Given the description of an element on the screen output the (x, y) to click on. 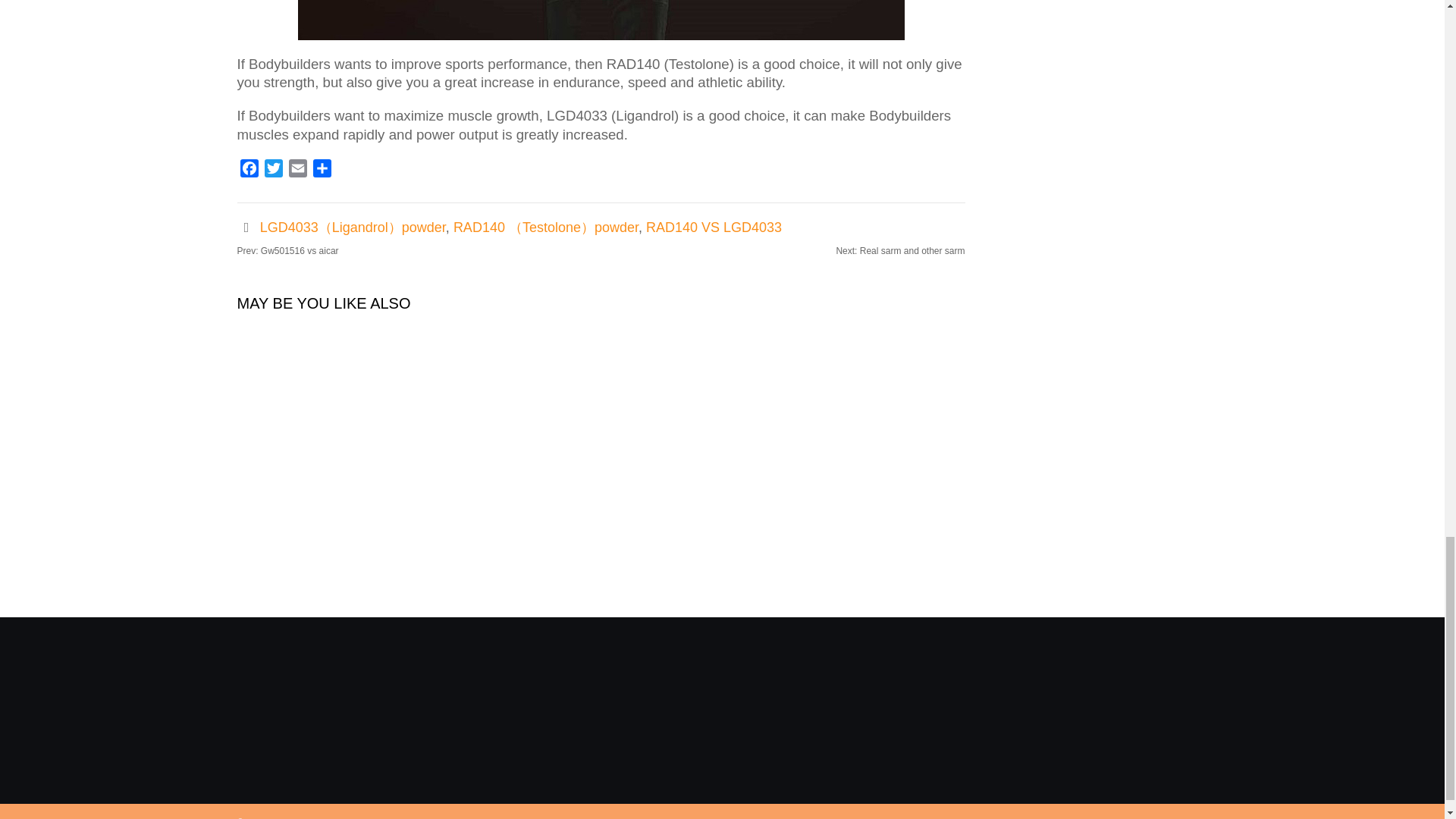
Facebook (247, 170)
Email (296, 170)
Twitter (272, 170)
Twitter (272, 170)
Facebook (247, 170)
